Given the description of an element on the screen output the (x, y) to click on. 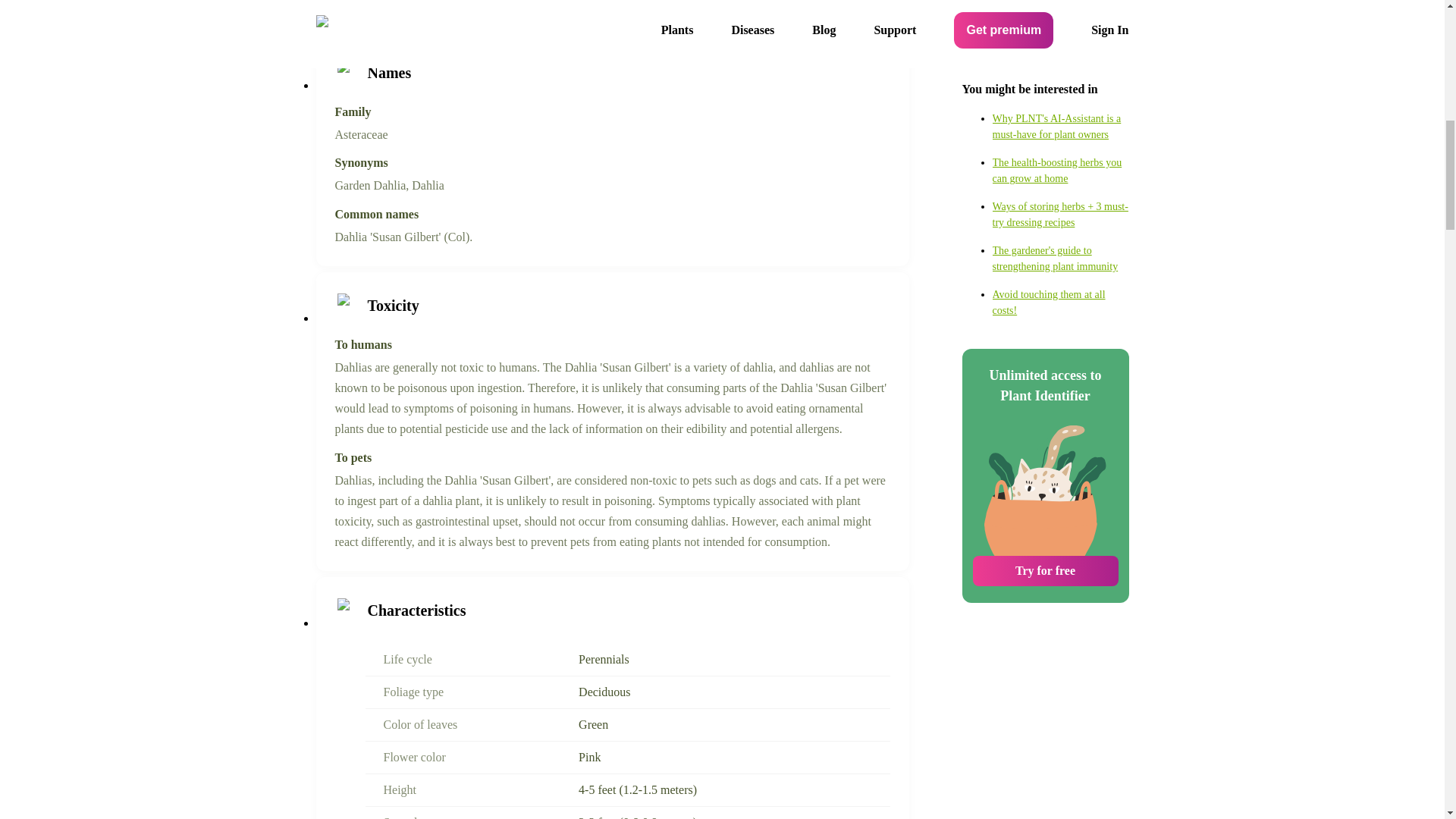
The gardener's guide to strengthening plant immunity (1059, 92)
Avoid touching them at all costs! (1059, 136)
The health-boosting herbs you can grow at home (1059, 10)
Try for free (1045, 404)
